Given the description of an element on the screen output the (x, y) to click on. 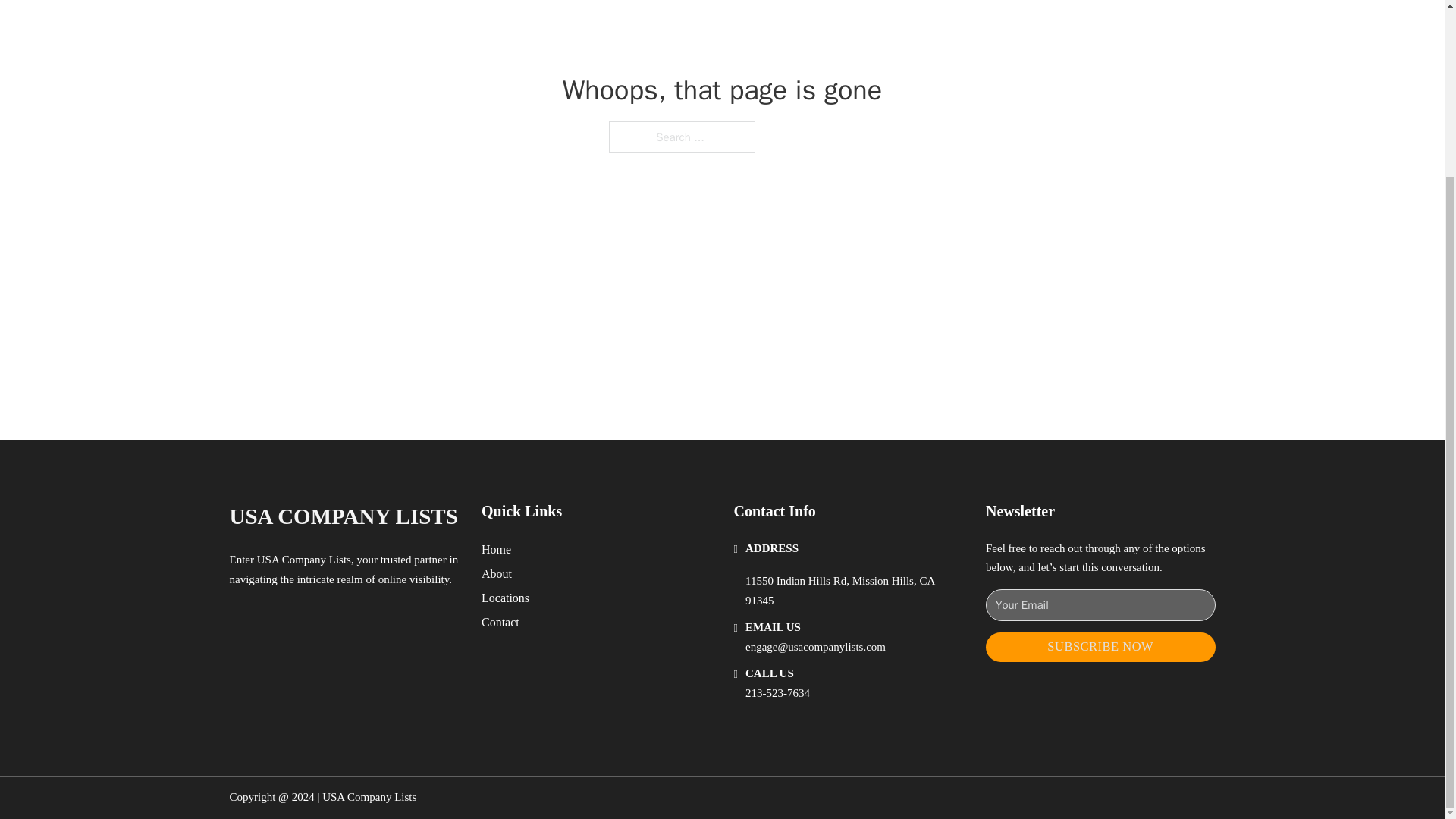
Home (496, 548)
Contact (500, 621)
SUBSCRIBE NOW (1100, 646)
About (496, 573)
Locations (505, 598)
USA COMPANY LISTS (342, 516)
213-523-7634 (777, 693)
